Given the description of an element on the screen output the (x, y) to click on. 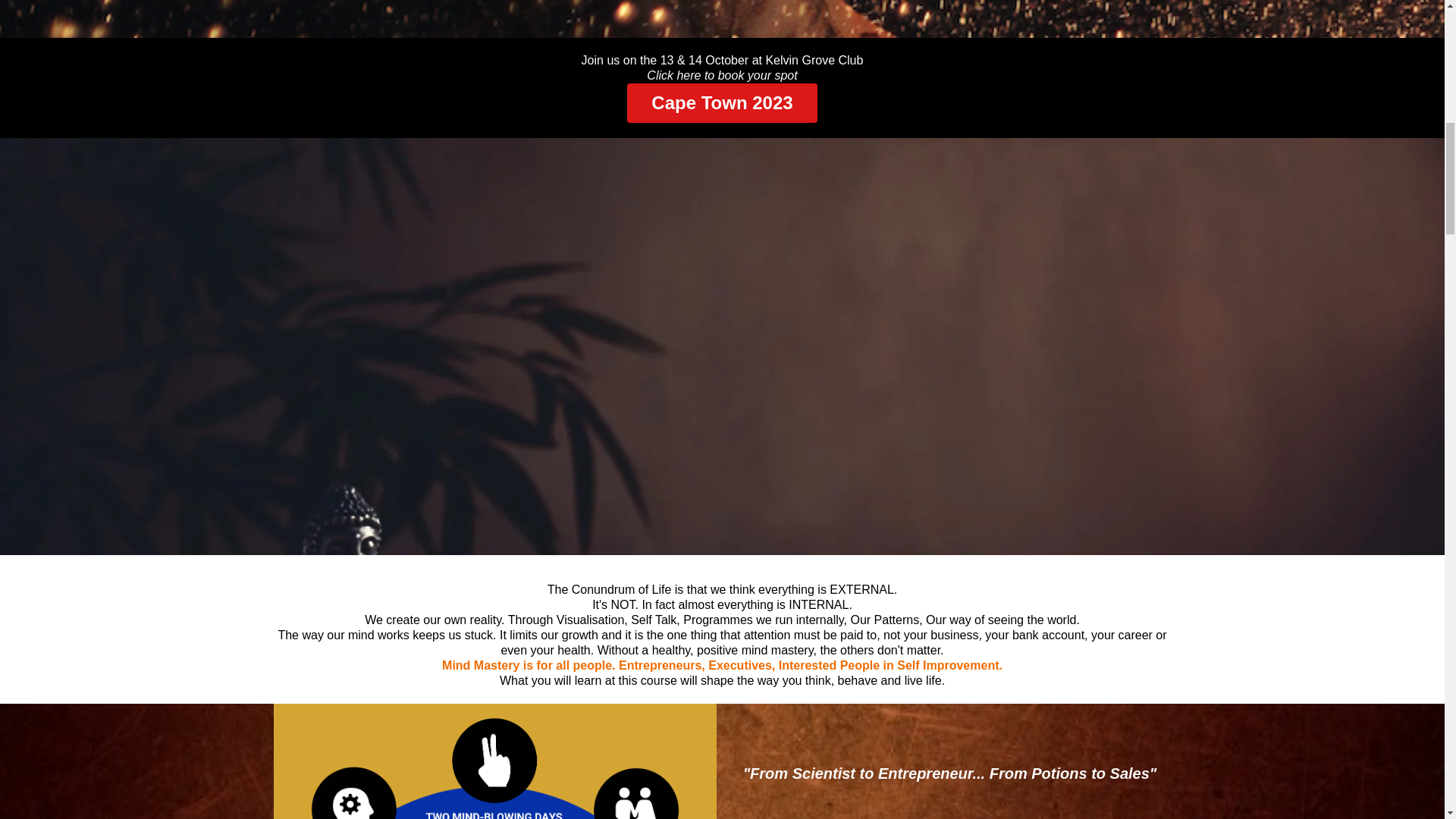
Cape Town 2023 (721, 102)
